Given the description of an element on the screen output the (x, y) to click on. 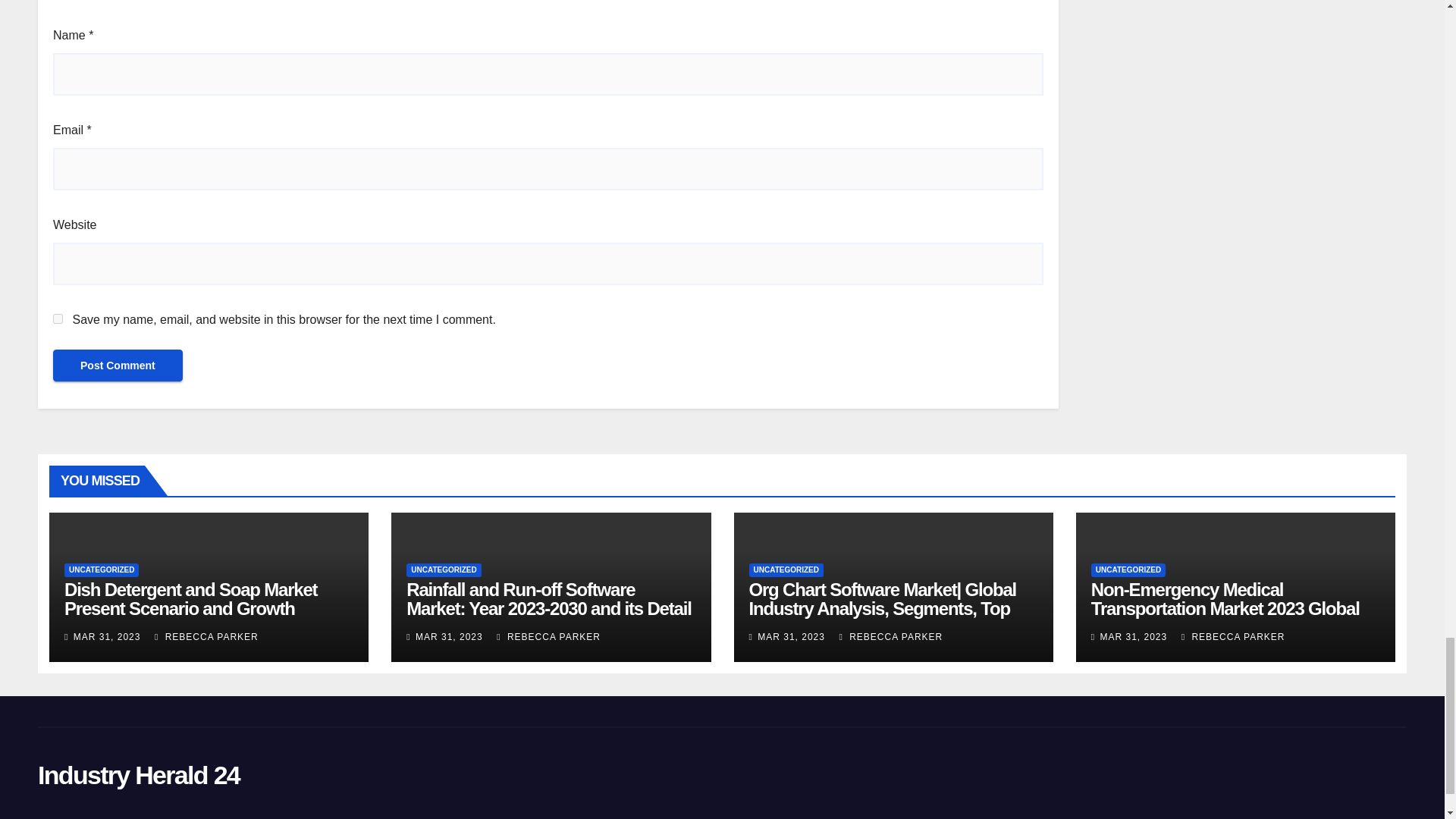
Post Comment (117, 365)
yes (57, 318)
